Given the description of an element on the screen output the (x, y) to click on. 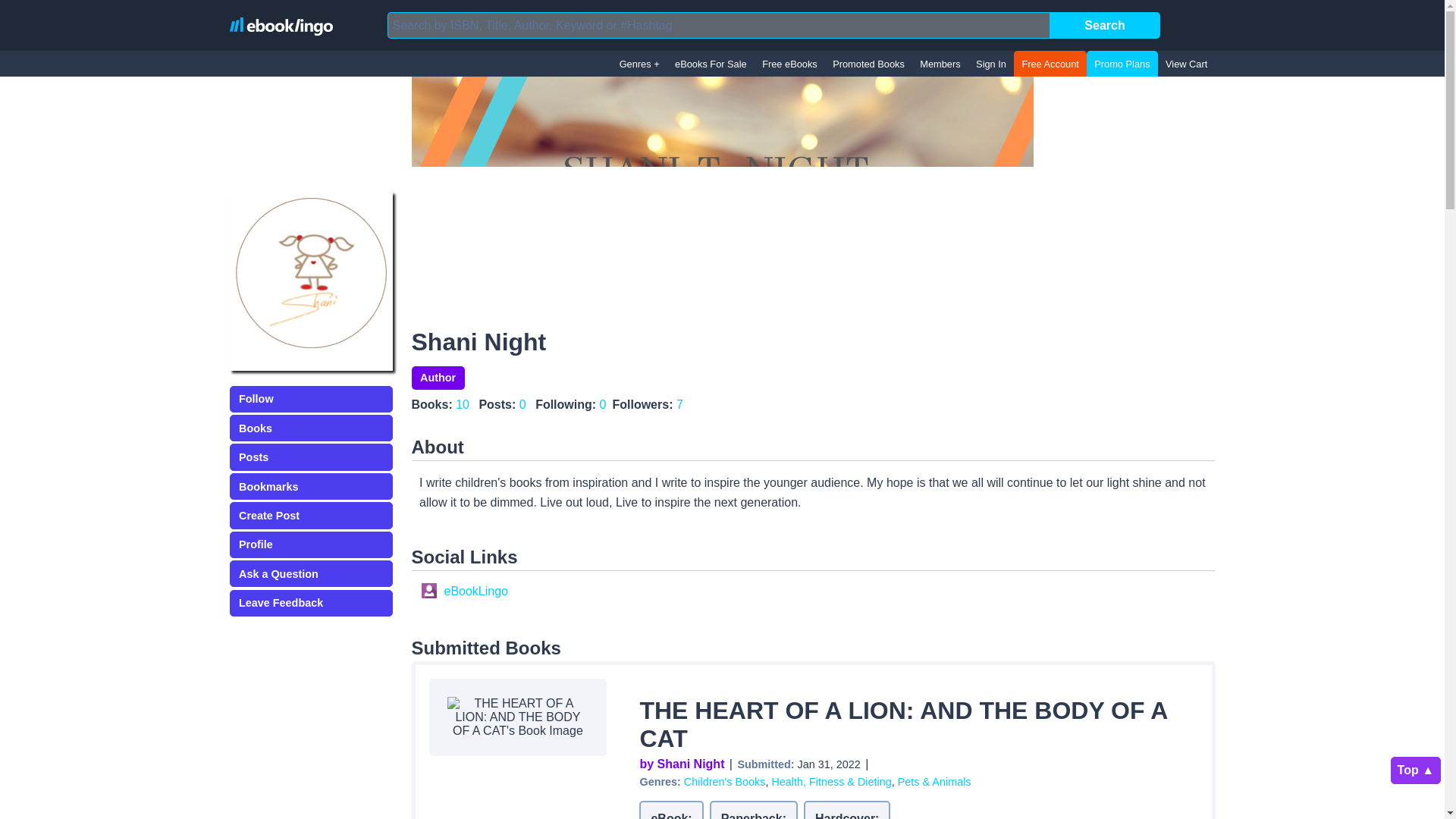
Genres (638, 63)
Free Account (1049, 63)
View Cart (1186, 63)
Book Promotional Plans Link (1121, 63)
Members (940, 63)
Sign In (990, 63)
Search (1104, 25)
Free eBooks (789, 63)
All Free eBooks on eBookLingo Link (789, 63)
Create a Free eBookLingo Account Link (1049, 63)
